Given the description of an element on the screen output the (x, y) to click on. 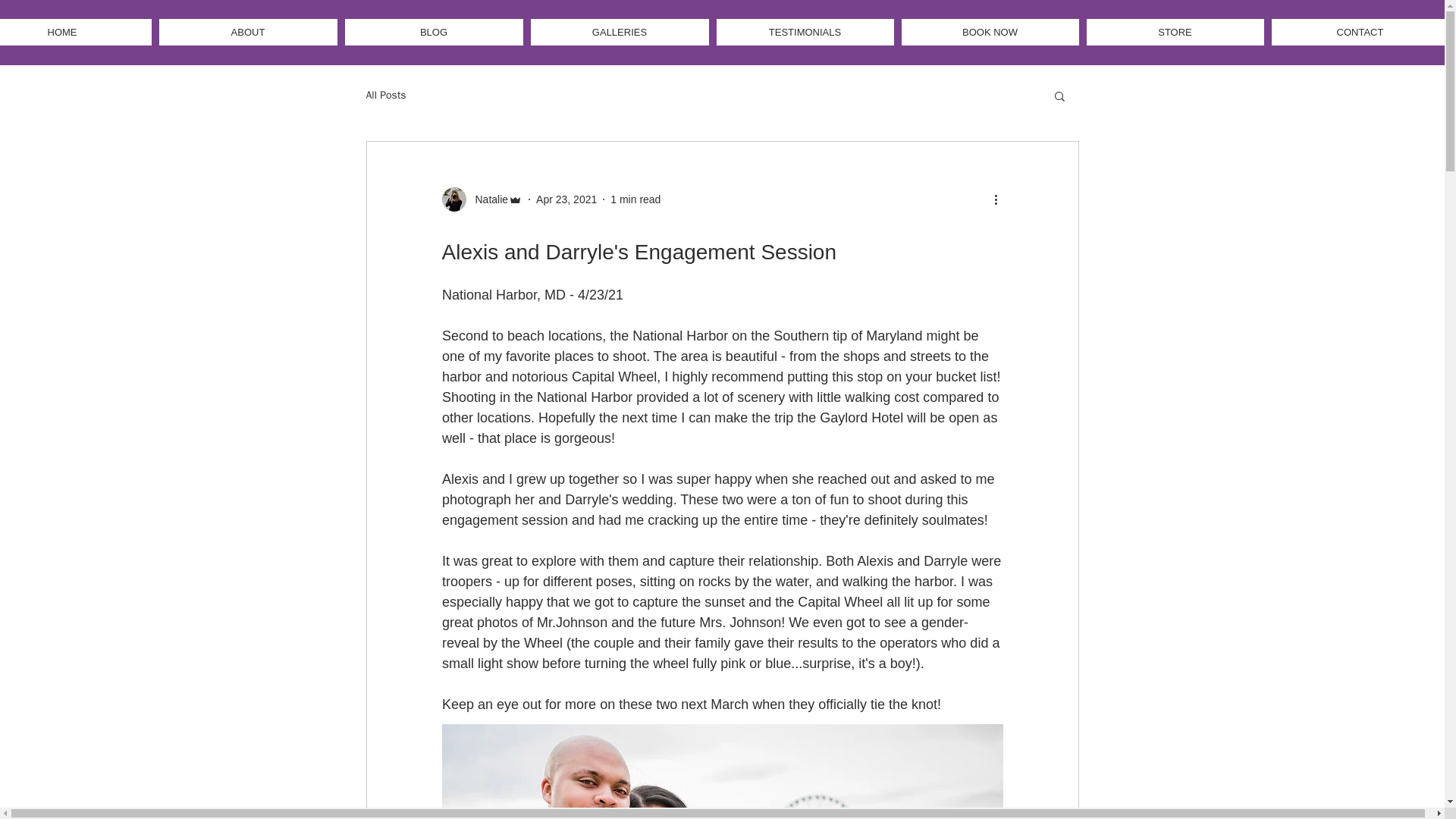
All Posts (385, 95)
Apr 23, 2021 (565, 198)
1 min read (635, 198)
BOOK NOW (989, 31)
Natalie (481, 199)
ABOUT (247, 31)
GALLERIES (620, 31)
STORE (1174, 31)
BLOG (432, 31)
TESTIMONIALS (804, 31)
